Given the description of an element on the screen output the (x, y) to click on. 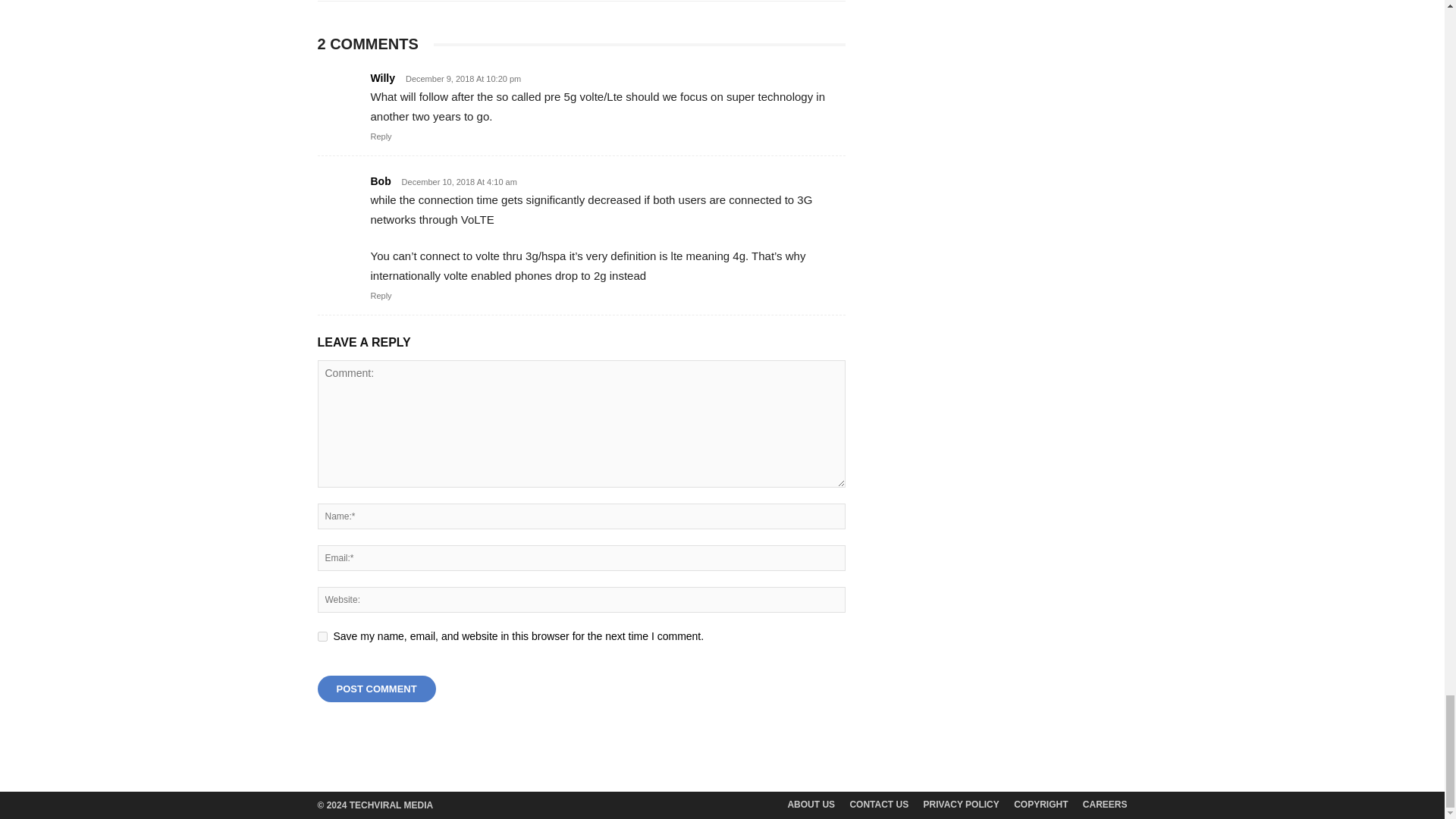
yes (321, 636)
Post Comment (376, 688)
